Given the description of an element on the screen output the (x, y) to click on. 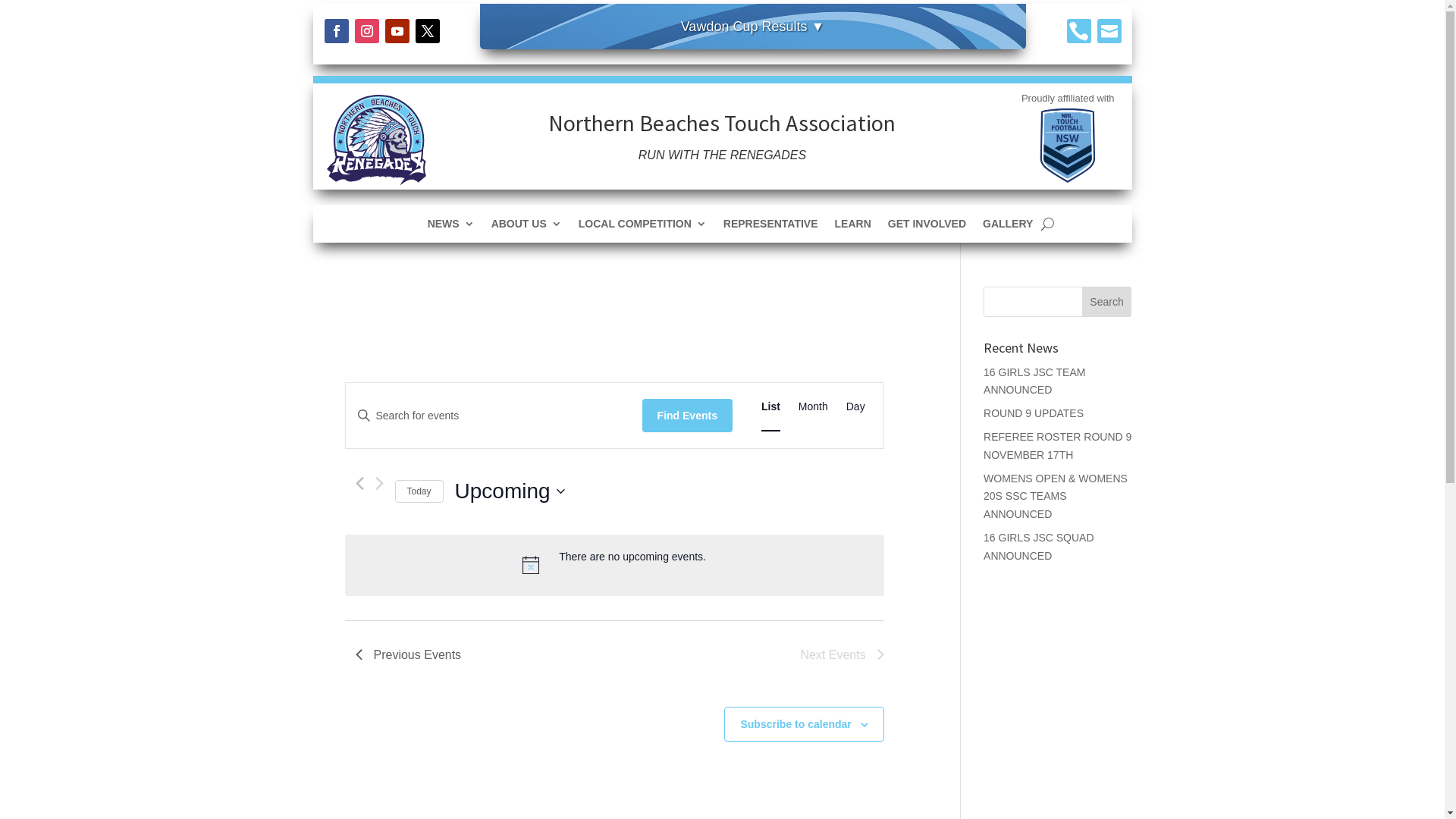
Follow on Youtube Element type: hover (397, 30)
ROUND 9 UPDATES Element type: text (1033, 413)
Follow on X Element type: hover (427, 30)
16 GIRLS JSC TEAM ANNOUNCED Element type: text (1034, 381)
Search Element type: text (24, 13)
List Element type: text (770, 406)
ABOUT US Element type: text (526, 226)
LEARN Element type: text (852, 226)
Subscribe to calendar Element type: text (795, 724)
Today Element type: text (418, 491)
Upcoming Element type: text (509, 491)
GALLERY Element type: text (1007, 226)
GET INVOLVED Element type: text (927, 226)
Previous Events Element type: text (407, 655)
Search Element type: text (1107, 301)
16 GIRLS JSC SQUAD ANNOUNCED Element type: text (1038, 546)
Follow on Instagram Element type: hover (366, 30)
Day Element type: text (855, 406)
REFEREE ROSTER ROUND 9 NOVEMBER 17TH Element type: text (1057, 445)
Follow on Facebook Element type: hover (336, 30)
Find Events Element type: text (687, 415)
Previous Events Element type: hover (358, 483)
NEWS Element type: text (450, 226)
Month Element type: text (813, 406)
Next Events Element type: hover (378, 483)
Next Events Element type: text (841, 655)
REPRESENTATIVE Element type: text (770, 226)
LOCAL COMPETITION Element type: text (642, 226)
WOMENS OPEN & WOMENS 20S SSC TEAMS ANNOUNCED Element type: text (1055, 496)
